Given the description of an element on the screen output the (x, y) to click on. 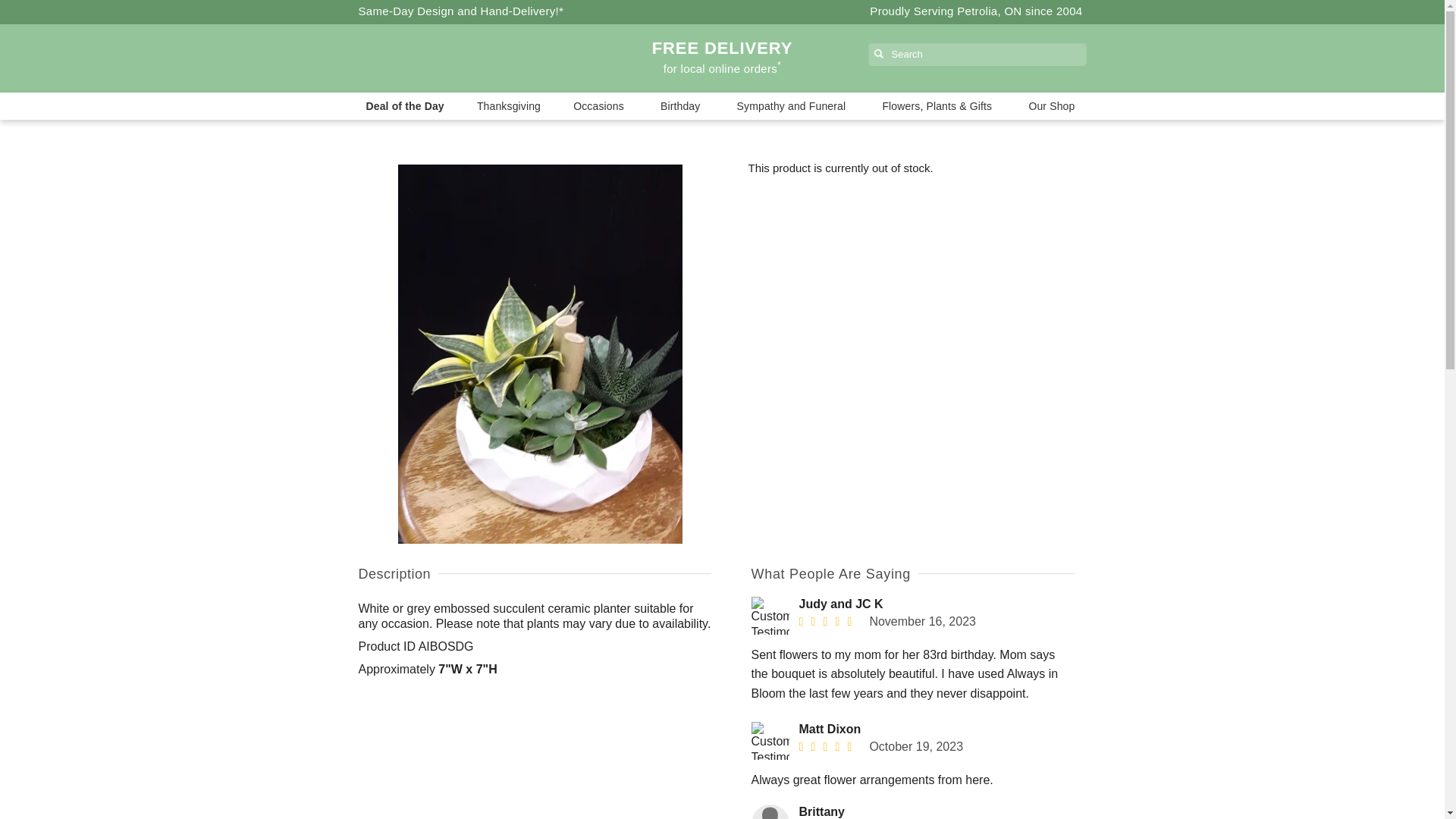
Birthday Element type: text (682, 105)
Always in Bloom - Petrolia Flower Delivery Element type: hover (466, 58)
Sympathy and Funeral Element type: text (793, 105)
Flowers, Plants & Gifts Element type: text (938, 105)
Occasions Element type: text (600, 105)
Our Shop Element type: text (1052, 105)
Submit Search Form Element type: text (52, 7)
FREE DELIVERY
for local online orders* Element type: text (722, 58)
Thanksgiving Element type: text (508, 105)
Same-Day Design and Hand-Delivery!* Element type: text (460, 10)
Deal of the Day Element type: text (404, 105)
